Given the description of an element on the screen output the (x, y) to click on. 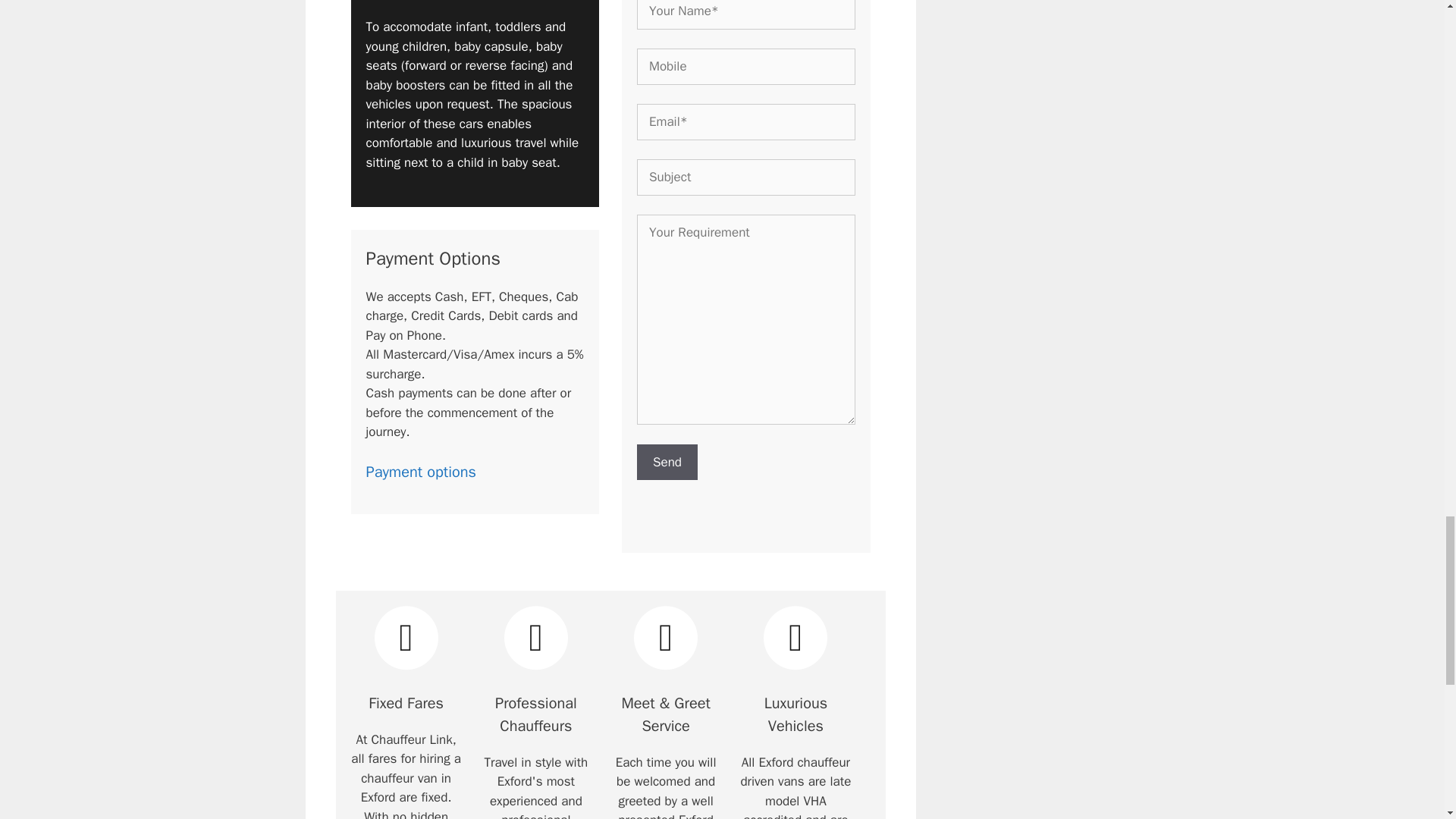
Fixed Fares (406, 637)
Send (667, 462)
